Given the description of an element on the screen output the (x, y) to click on. 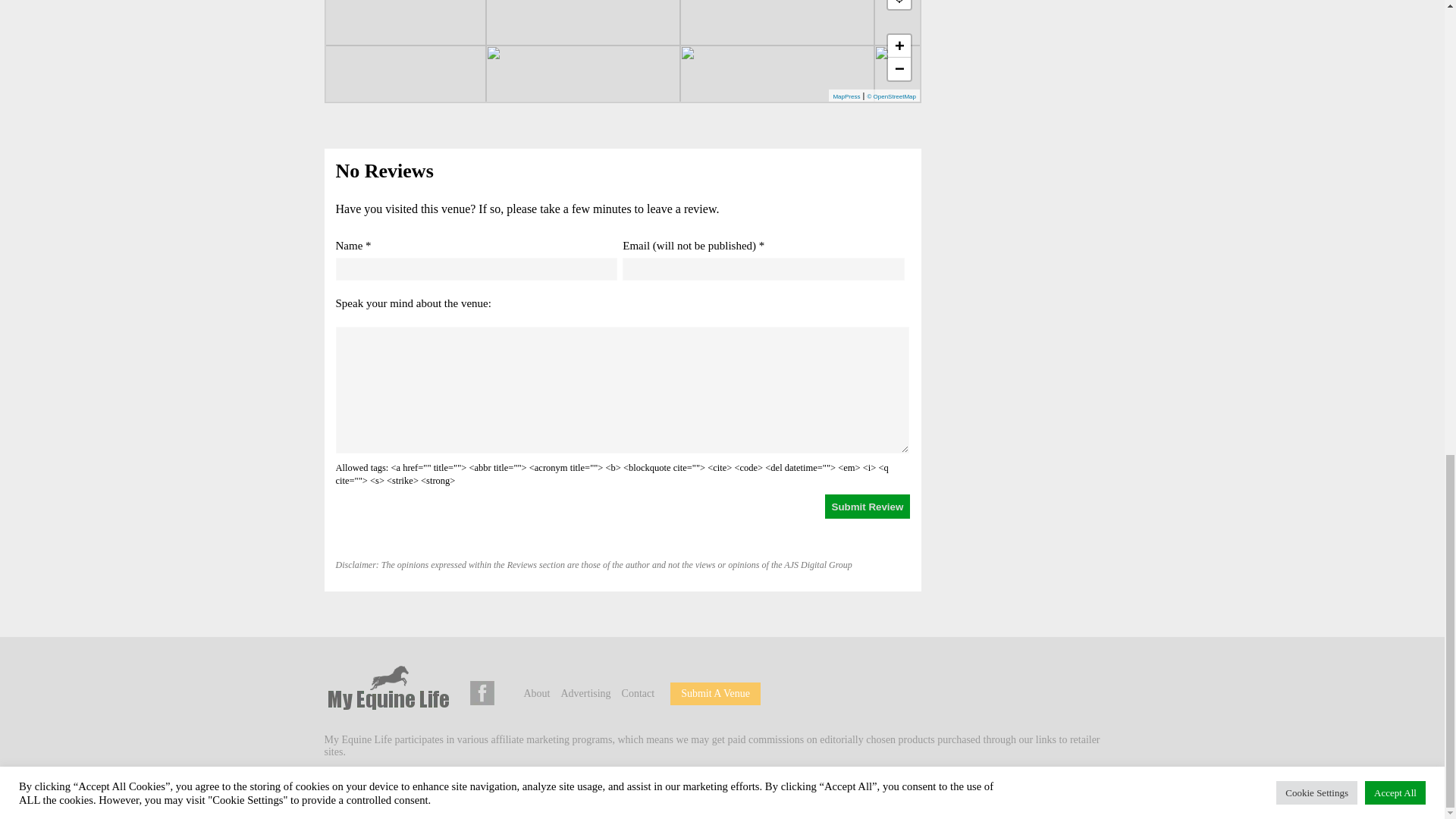
Submit Review (867, 506)
Your Location (899, 5)
MapPress (846, 96)
Terms of Use (597, 787)
Submit A Venue (715, 693)
Submit Review (867, 506)
Advertising (585, 693)
Contact (638, 693)
About (536, 693)
AJS Digital Group (430, 787)
